Given the description of an element on the screen output the (x, y) to click on. 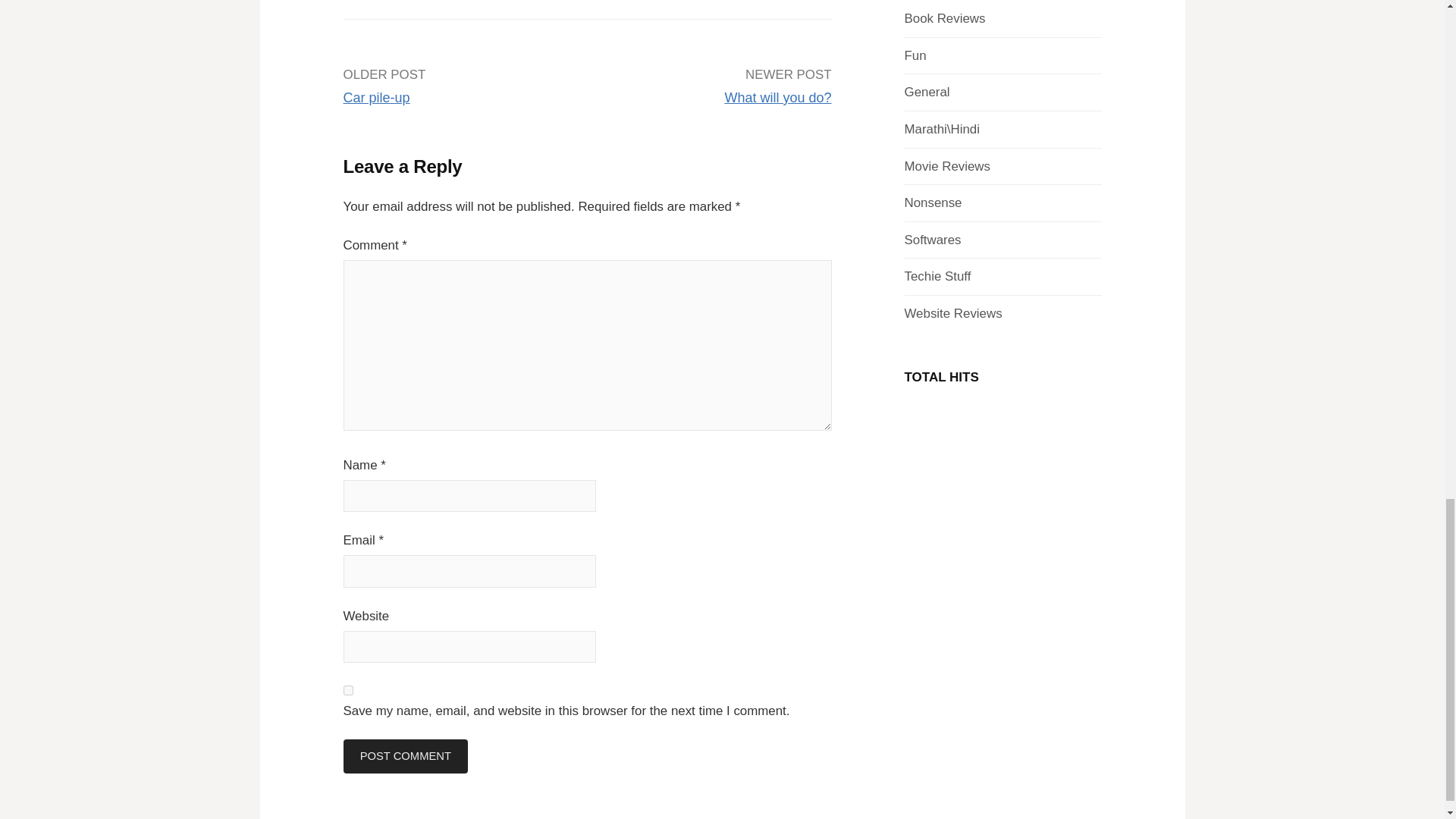
Post Comment (404, 756)
yes (347, 690)
What will you do? (777, 97)
Car pile-up (375, 97)
Post Comment (404, 756)
